Given the description of an element on the screen output the (x, y) to click on. 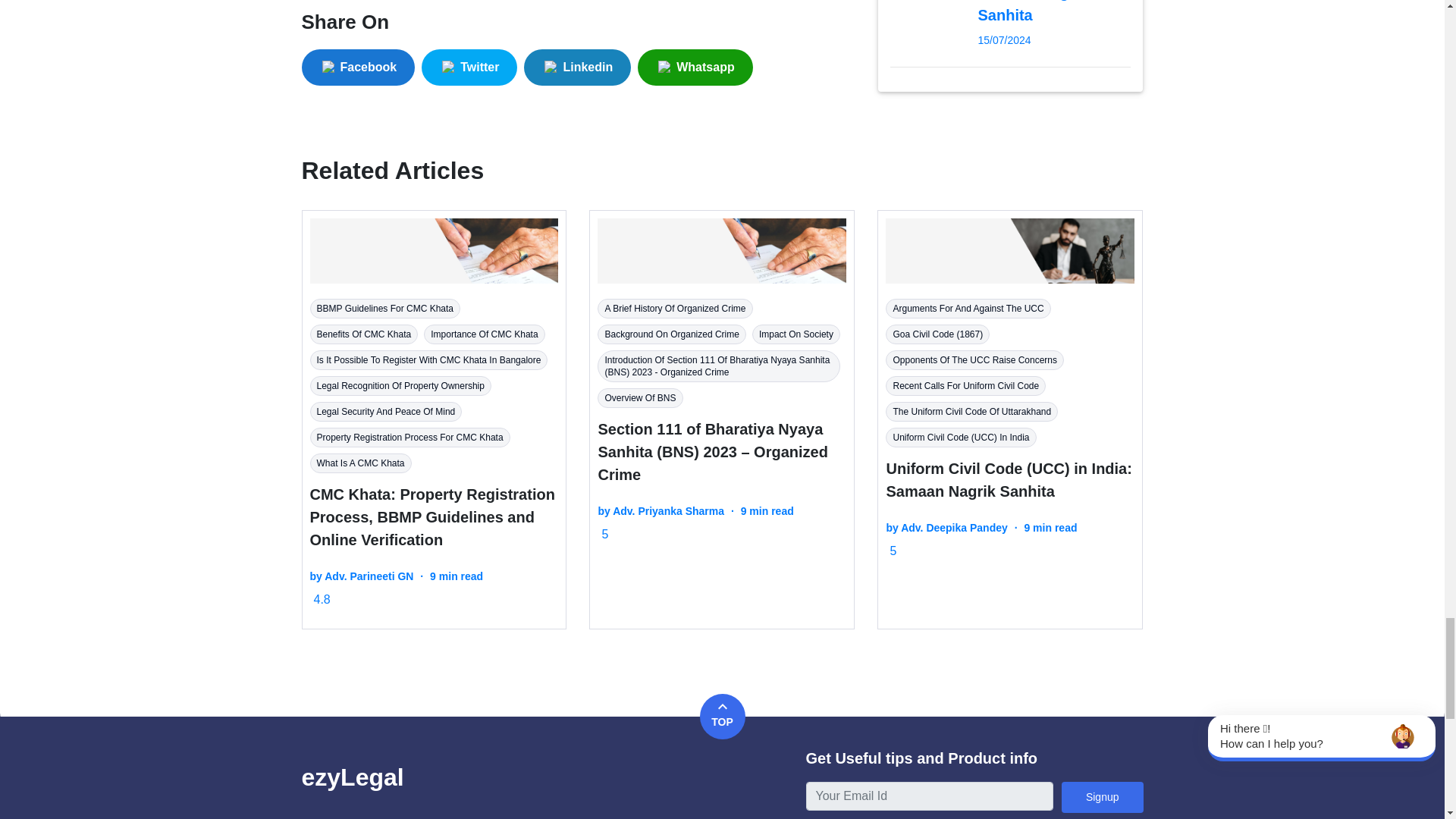
Whatsapp (697, 67)
Linkedin (577, 67)
Linkedin (580, 67)
Facebook (361, 67)
Twitter (473, 67)
Whatsapp (694, 67)
Facebook (357, 67)
Twitter (469, 67)
